Given the description of an element on the screen output the (x, y) to click on. 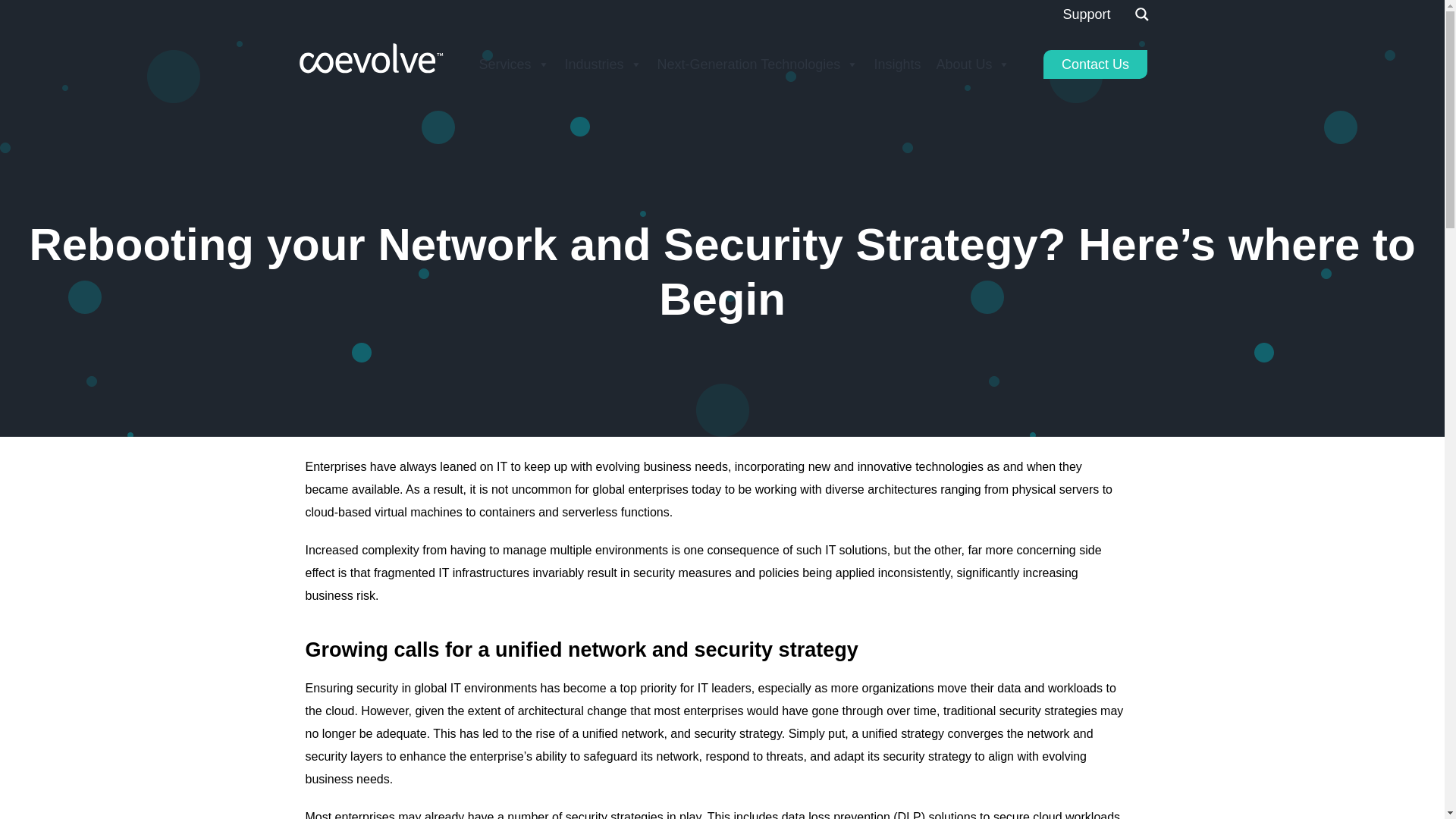
Industries (602, 64)
Next-Generation Technologies (757, 64)
Support (1085, 14)
Services (513, 64)
About Us (972, 64)
Insights (897, 64)
